Given the description of an element on the screen output the (x, y) to click on. 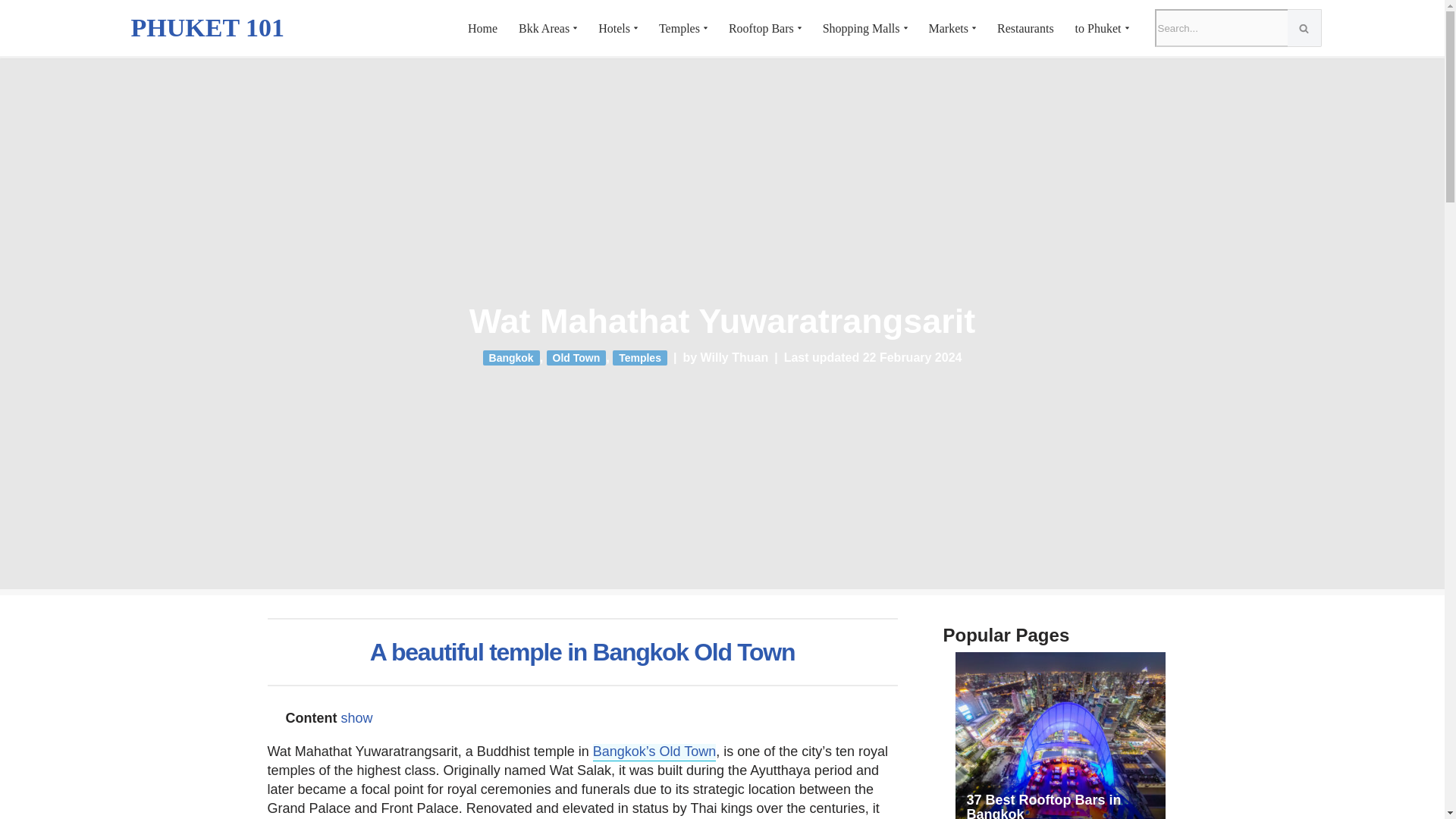
Temples (679, 28)
Rooftop Bars (761, 28)
Shopping Malls (860, 28)
Skip to content (11, 31)
Home (482, 28)
Bkk Areas (543, 28)
Hotels (614, 28)
PHUKET 101 (207, 27)
Posts by Willy Thuan (734, 357)
